Given the description of an element on the screen output the (x, y) to click on. 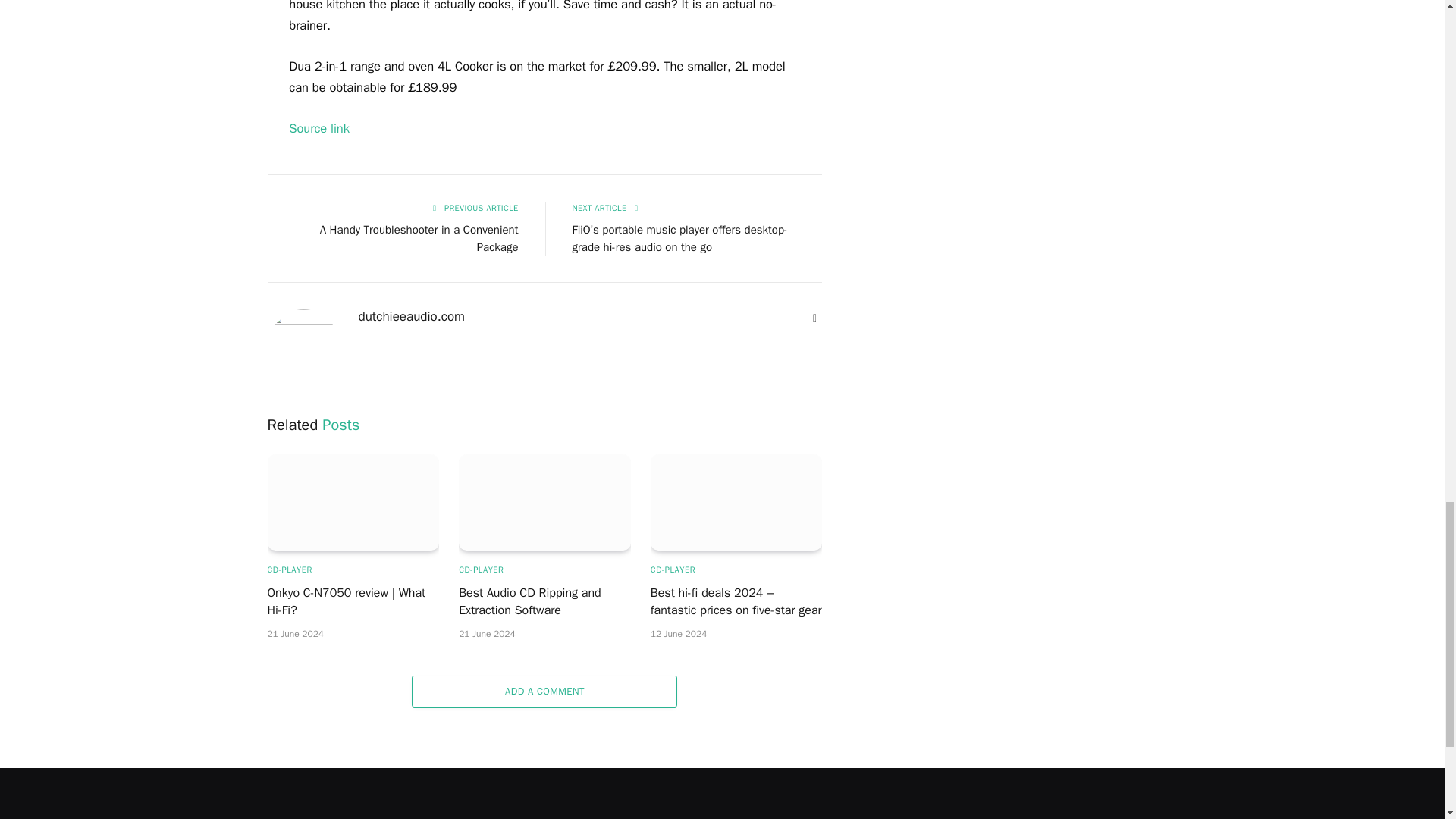
Website (814, 318)
Website (814, 318)
Best Audio CD Ripping and Extraction Software (544, 502)
CD-PLAYER (288, 569)
dutchieeaudio.com (411, 316)
Source link (318, 128)
Posts by dutchieeaudio.com (411, 316)
A Handy Troubleshooter in a Convenient Package (419, 237)
